Given the description of an element on the screen output the (x, y) to click on. 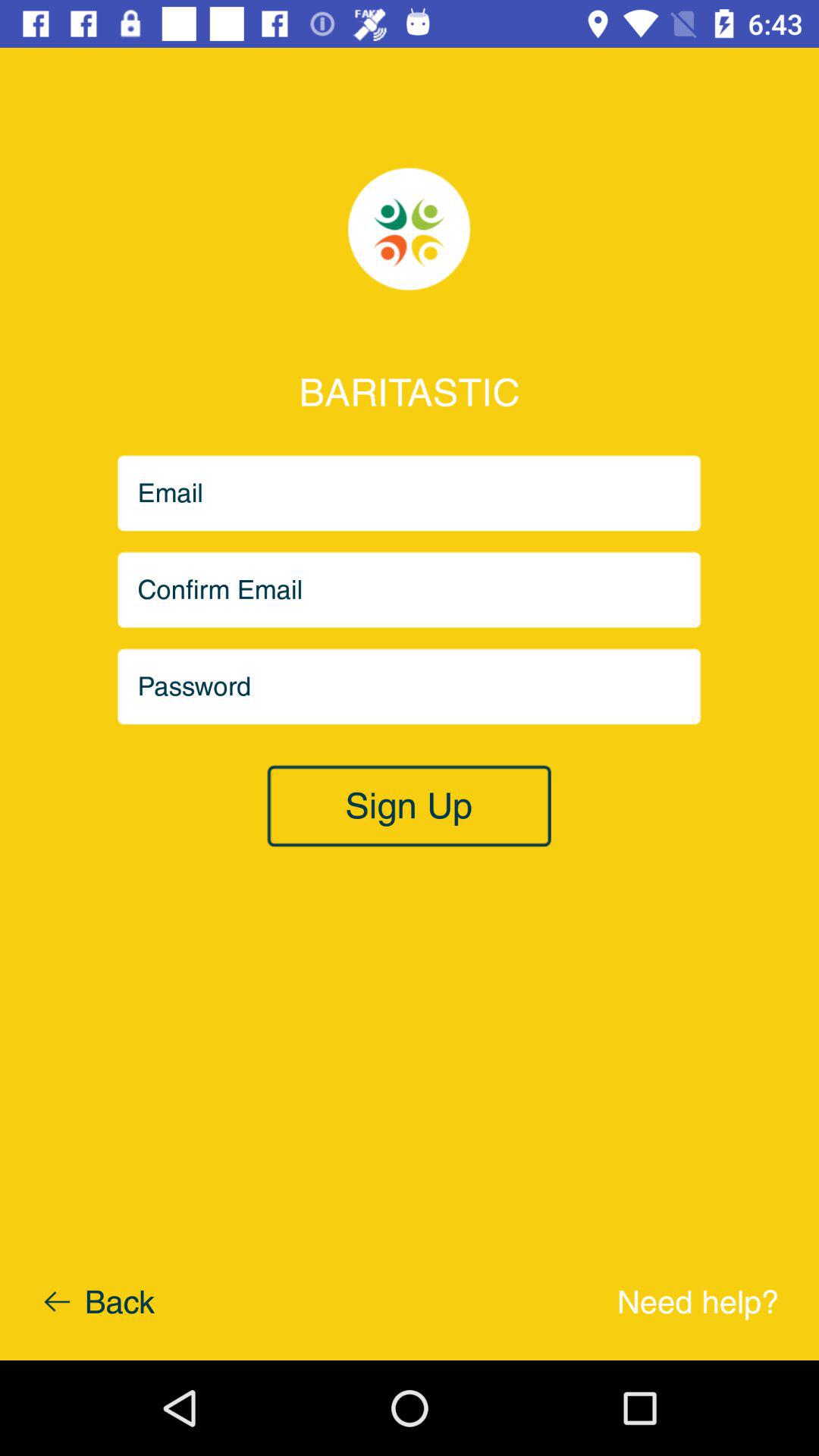
enter email to confirm option (409, 589)
